Given the description of an element on the screen output the (x, y) to click on. 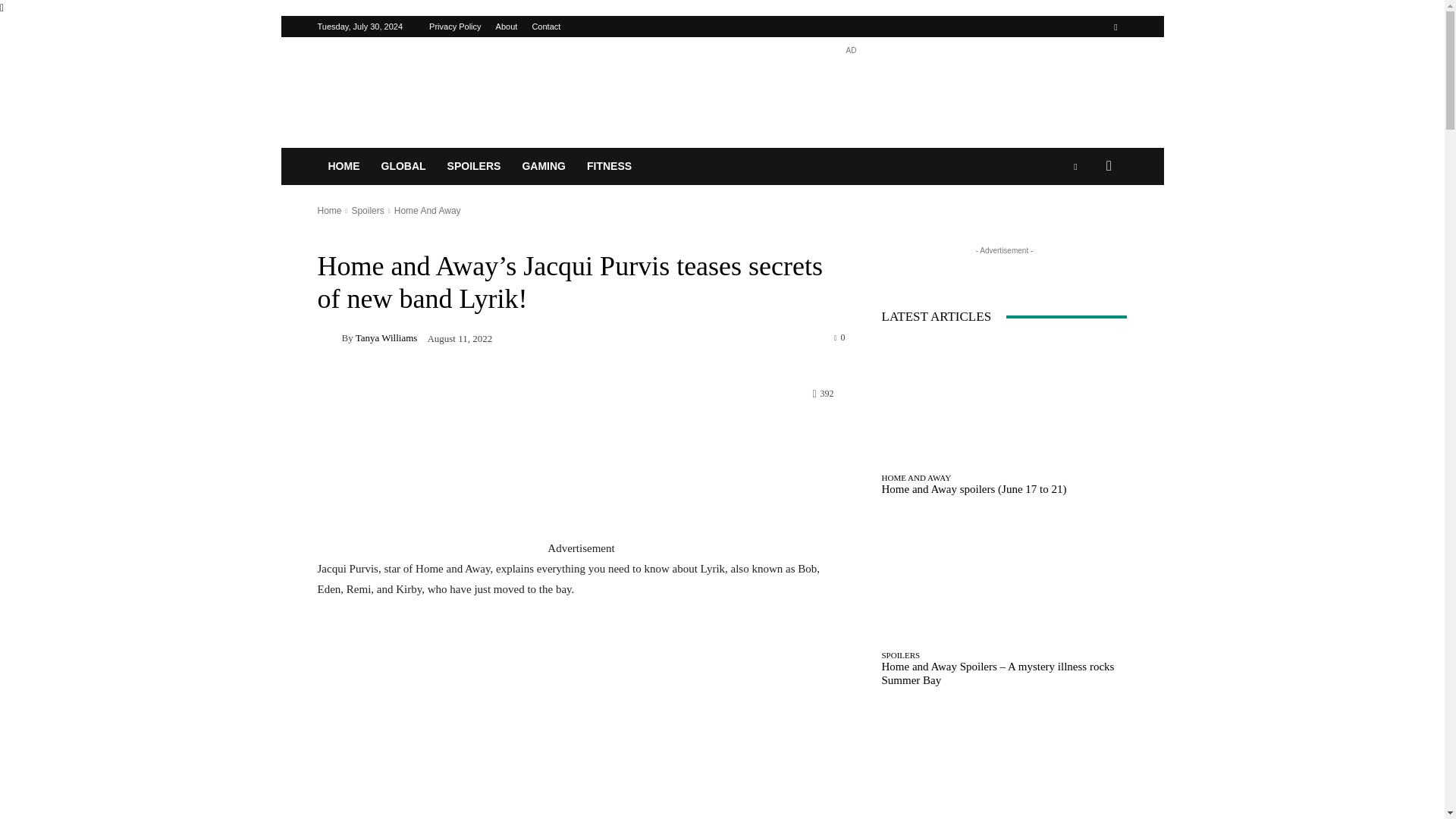
Contact (545, 26)
SPOILERS (474, 166)
GLOBAL (402, 166)
About (507, 26)
Facebook (1114, 25)
Privacy Policy (454, 26)
HOME (343, 166)
